Given the description of an element on the screen output the (x, y) to click on. 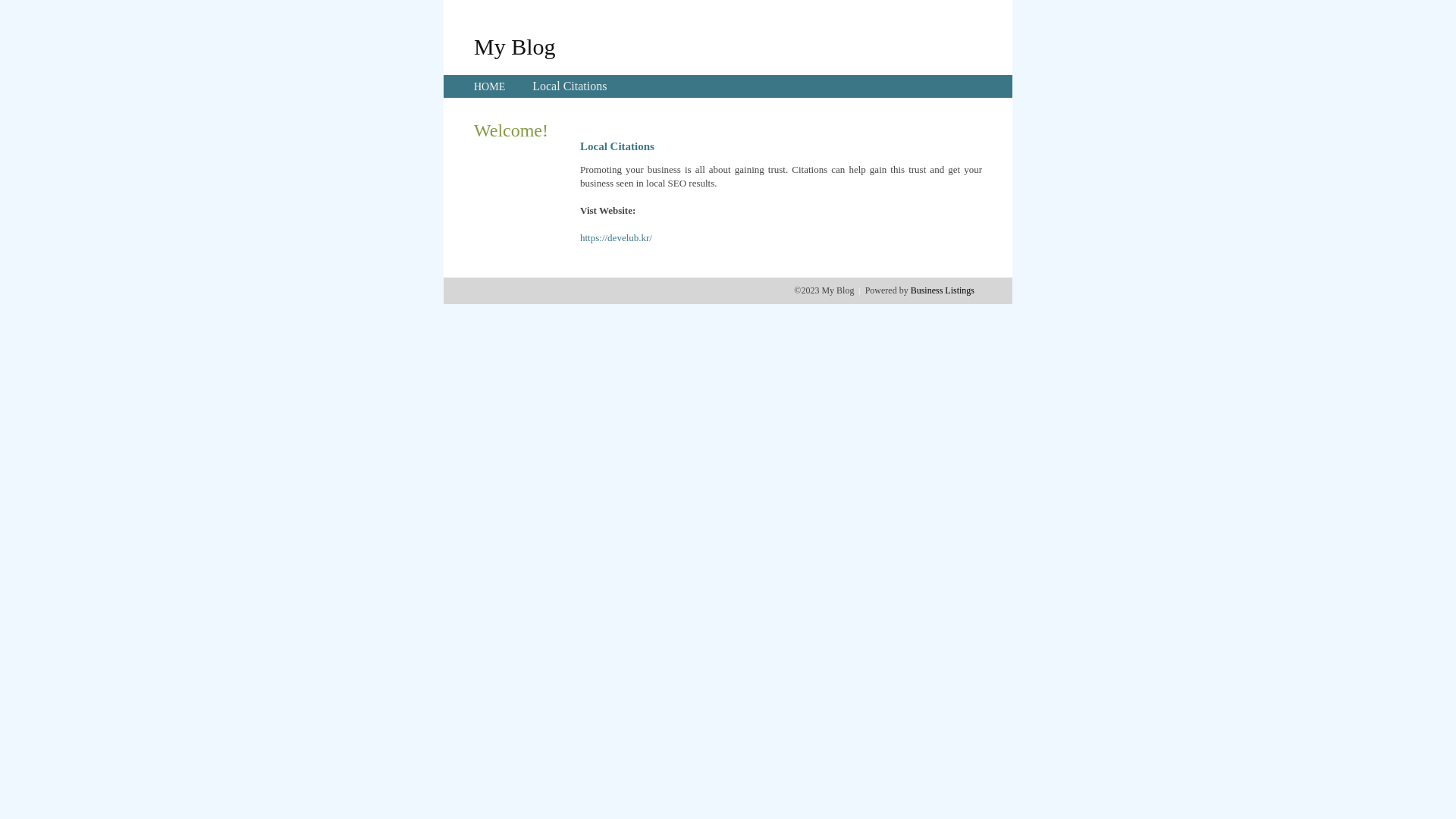
HOME Element type: text (489, 86)
Business Listings Element type: text (942, 290)
My Blog Element type: text (514, 46)
https://develub.kr/ Element type: text (616, 237)
Local Citations Element type: text (569, 85)
